Given the description of an element on the screen output the (x, y) to click on. 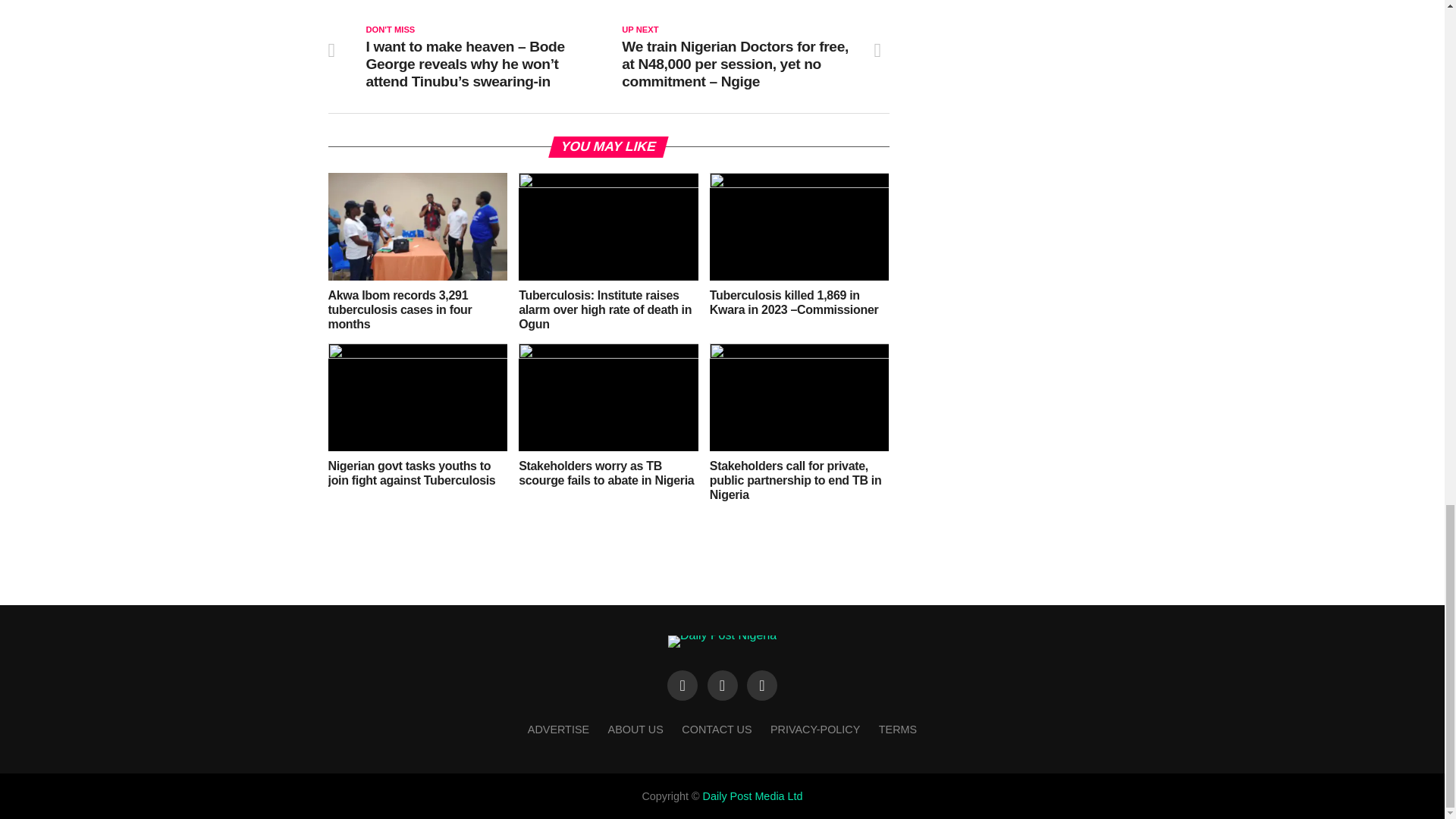
ADVERTISE (558, 729)
CONTACT US (716, 729)
ABOUT US (635, 729)
